Given the description of an element on the screen output the (x, y) to click on. 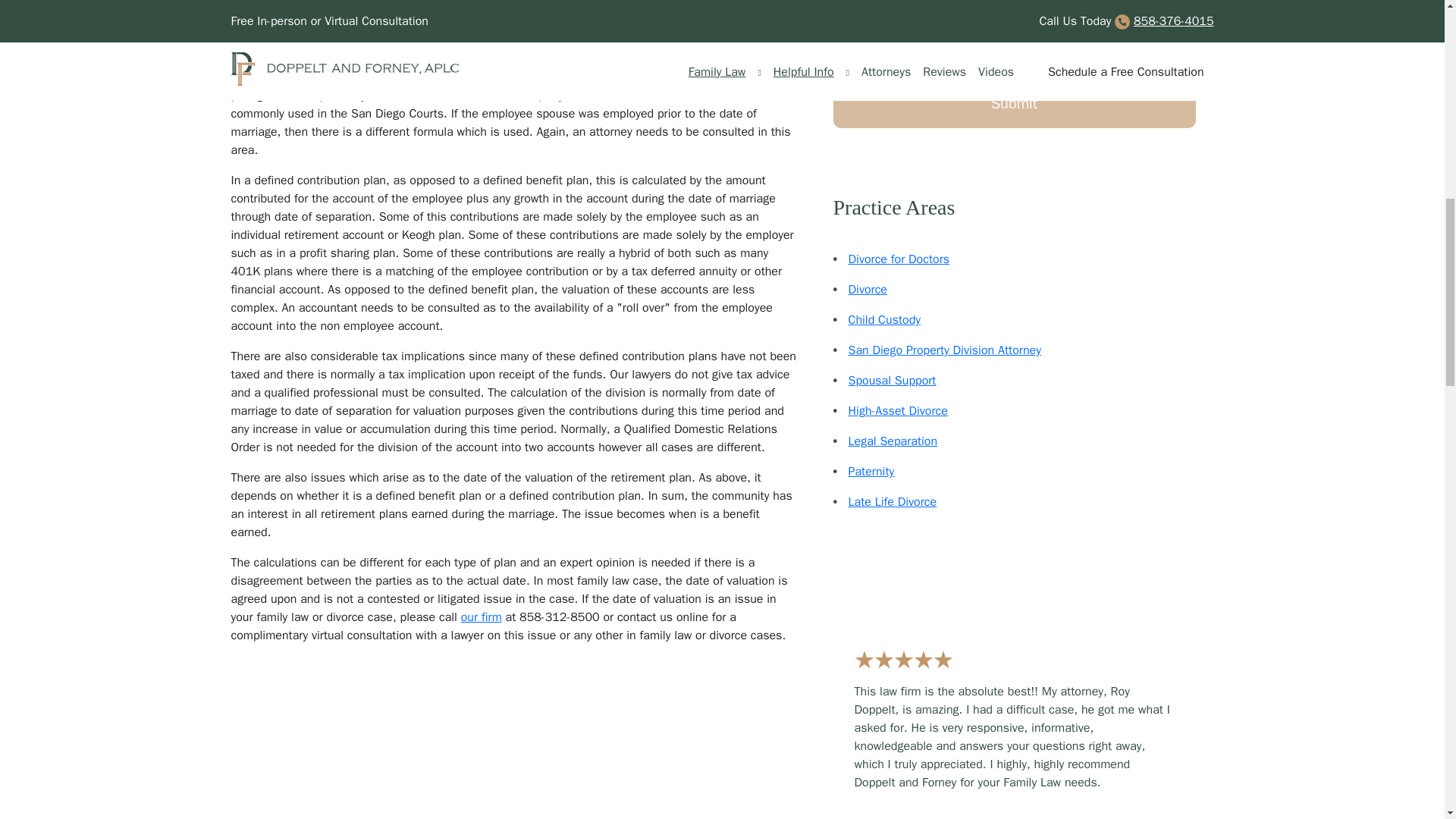
San Diego Property Division Attorney (944, 350)
Divorce for Doctors (898, 258)
Divorce (866, 289)
Child Custody (883, 319)
Submit (1013, 103)
Spousal Support (891, 380)
Terms of Use (1009, 60)
Privacy Policy (1110, 51)
our firm (481, 616)
